Given the description of an element on the screen output the (x, y) to click on. 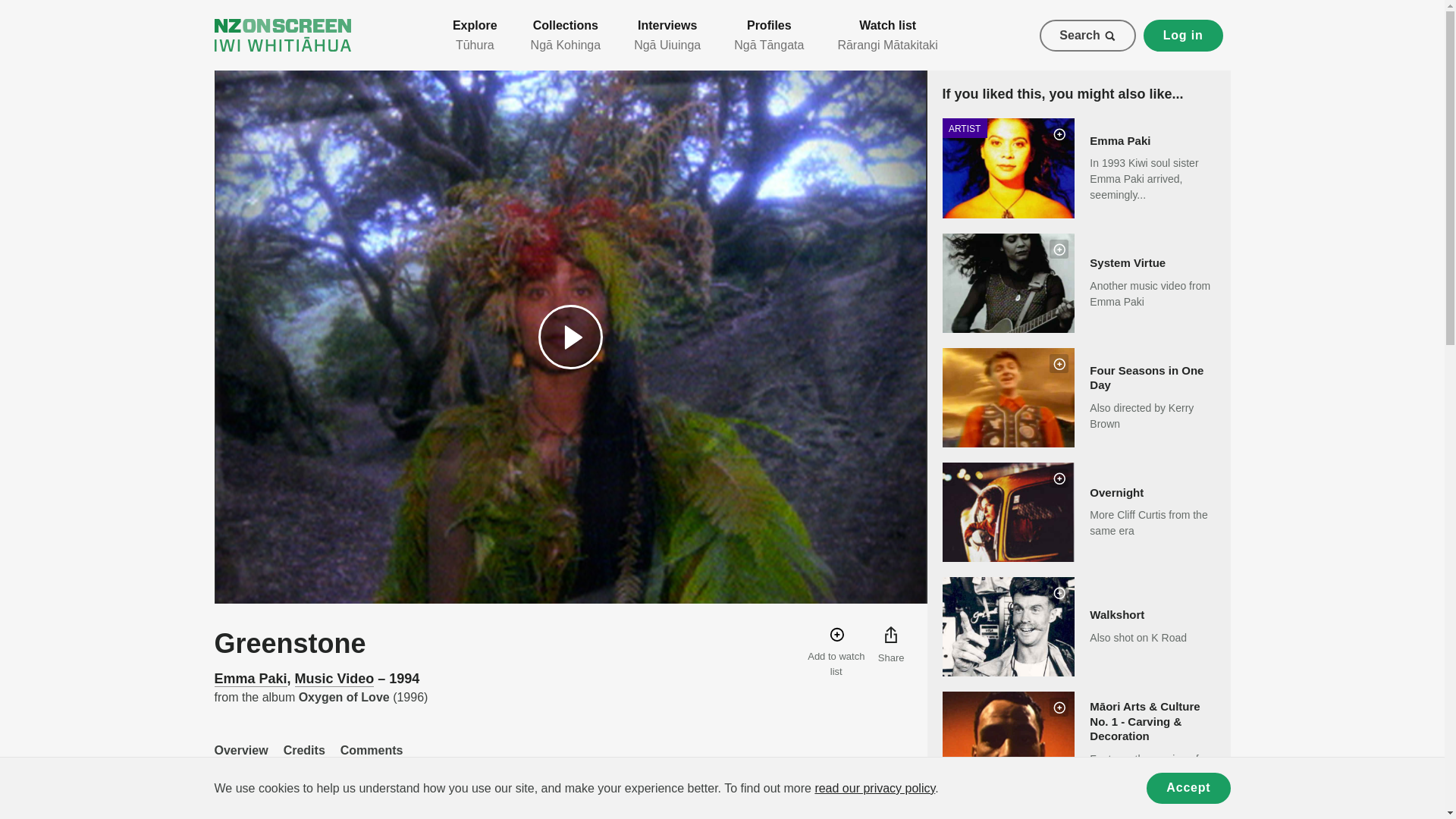
read our privacy policy (1078, 397)
Overview (873, 788)
Music Video (240, 756)
Comments (334, 678)
Emma Paki (371, 756)
Add to watch list (250, 678)
Accept (836, 652)
